Given the description of an element on the screen output the (x, y) to click on. 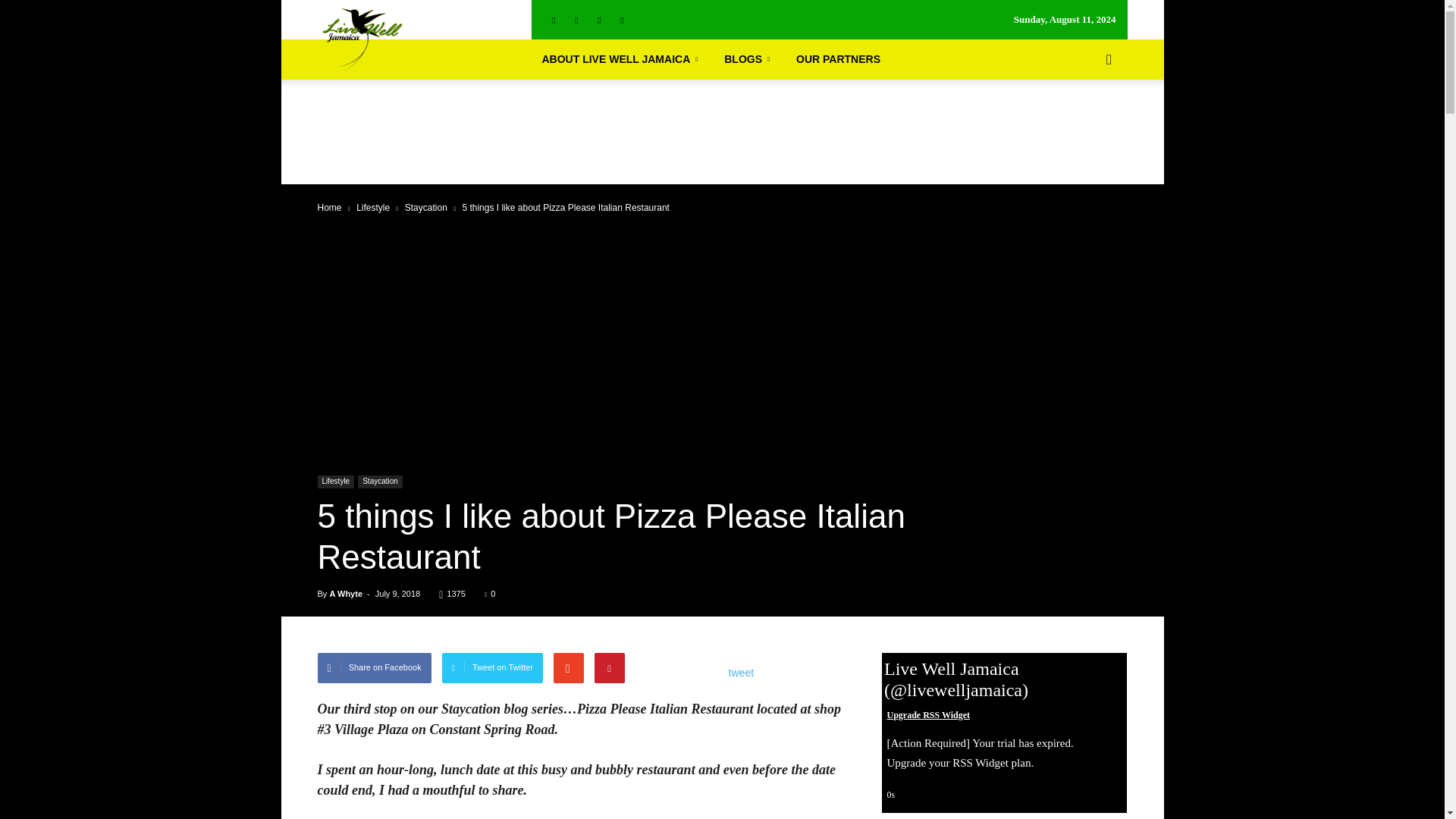
Tweet on Twitter (492, 667)
ABOUT LIVE WELL JAMAICA (622, 59)
Life of Success (140, 238)
Wha Gwaan (140, 181)
Instagram (577, 19)
CLOSE (140, 20)
OUR PARTNERS (140, 298)
Learn More About Ashleigh-Ann Mowatt (140, 118)
View all posts in Lifestyle (373, 207)
Mail (599, 19)
